Given the description of an element on the screen output the (x, y) to click on. 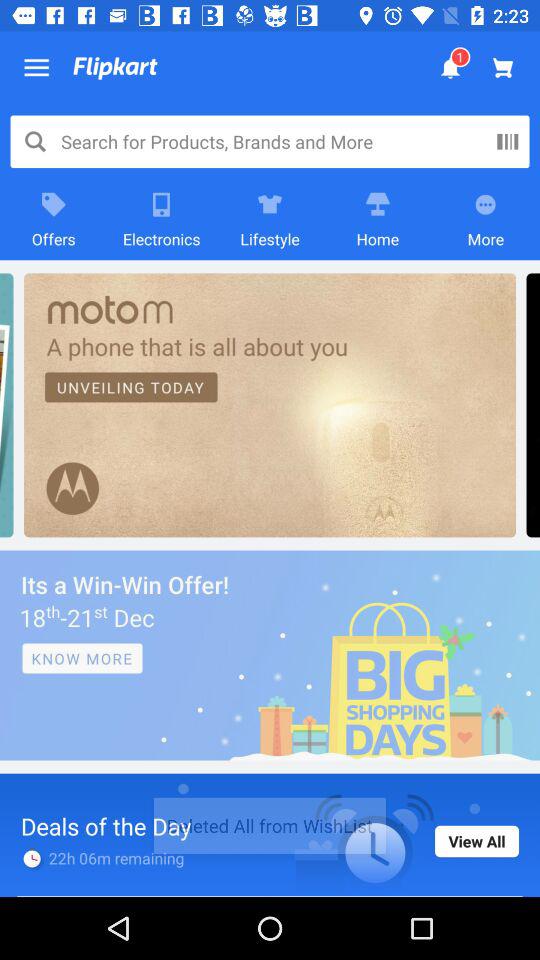
click icon to the right of deals of the icon (477, 841)
